Given the description of an element on the screen output the (x, y) to click on. 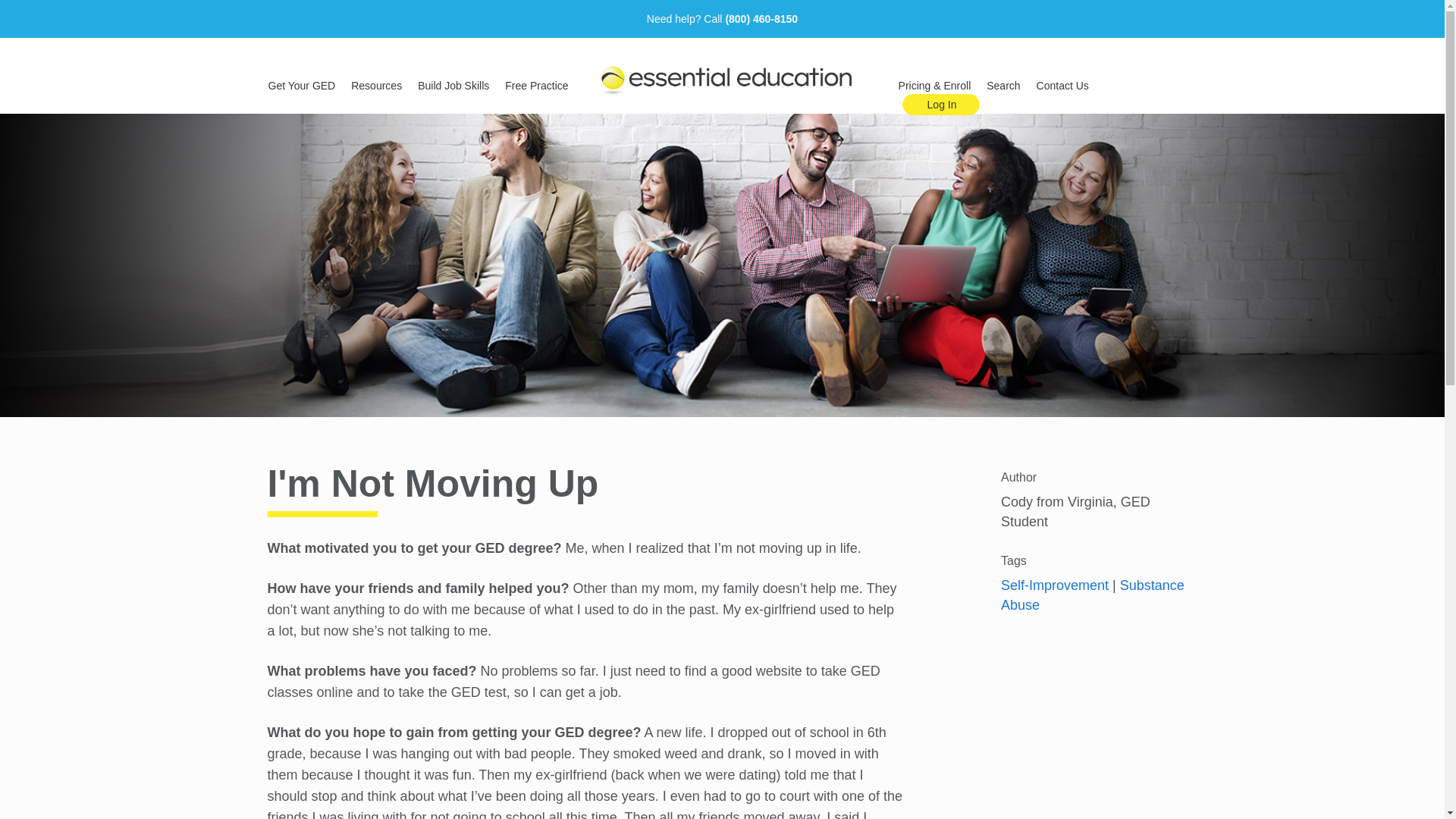
Free Practice (536, 85)
Resources (375, 85)
Build Job Skills (453, 85)
Get Your GED (301, 85)
